Given the description of an element on the screen output the (x, y) to click on. 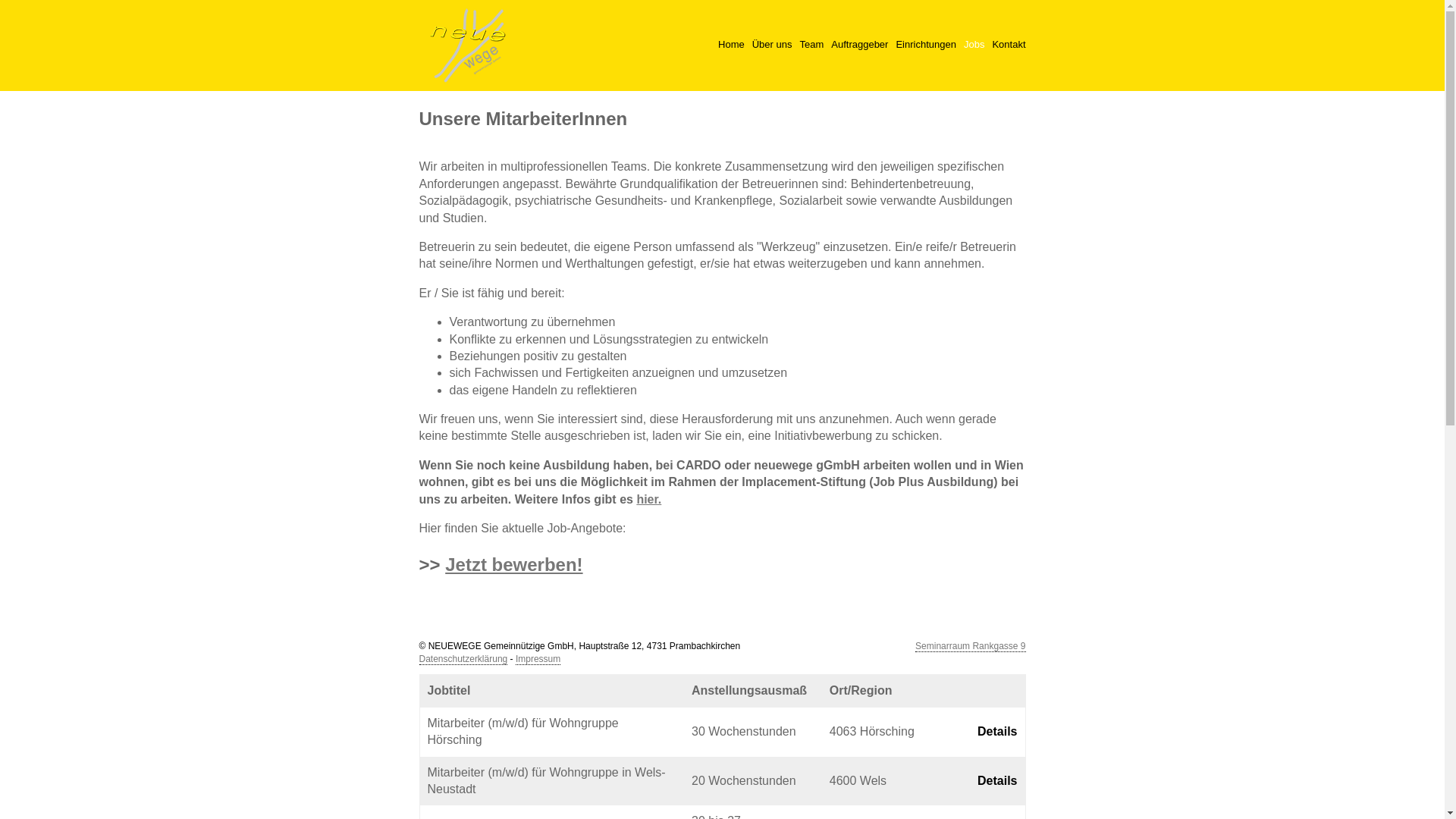
Details Element type: text (996, 780)
Seminarraum Rankgasse 9 Element type: text (970, 646)
Team Element type: text (811, 44)
Einrichtungen Element type: text (925, 44)
Jobs Element type: text (973, 44)
Kontakt Element type: text (1008, 44)
Jetzt bewerben! Element type: text (513, 564)
Home Element type: text (731, 44)
Auftraggeber Element type: text (859, 44)
Details Element type: text (996, 730)
hier. Element type: text (648, 498)
Impressum Element type: text (537, 659)
